Given the description of an element on the screen output the (x, y) to click on. 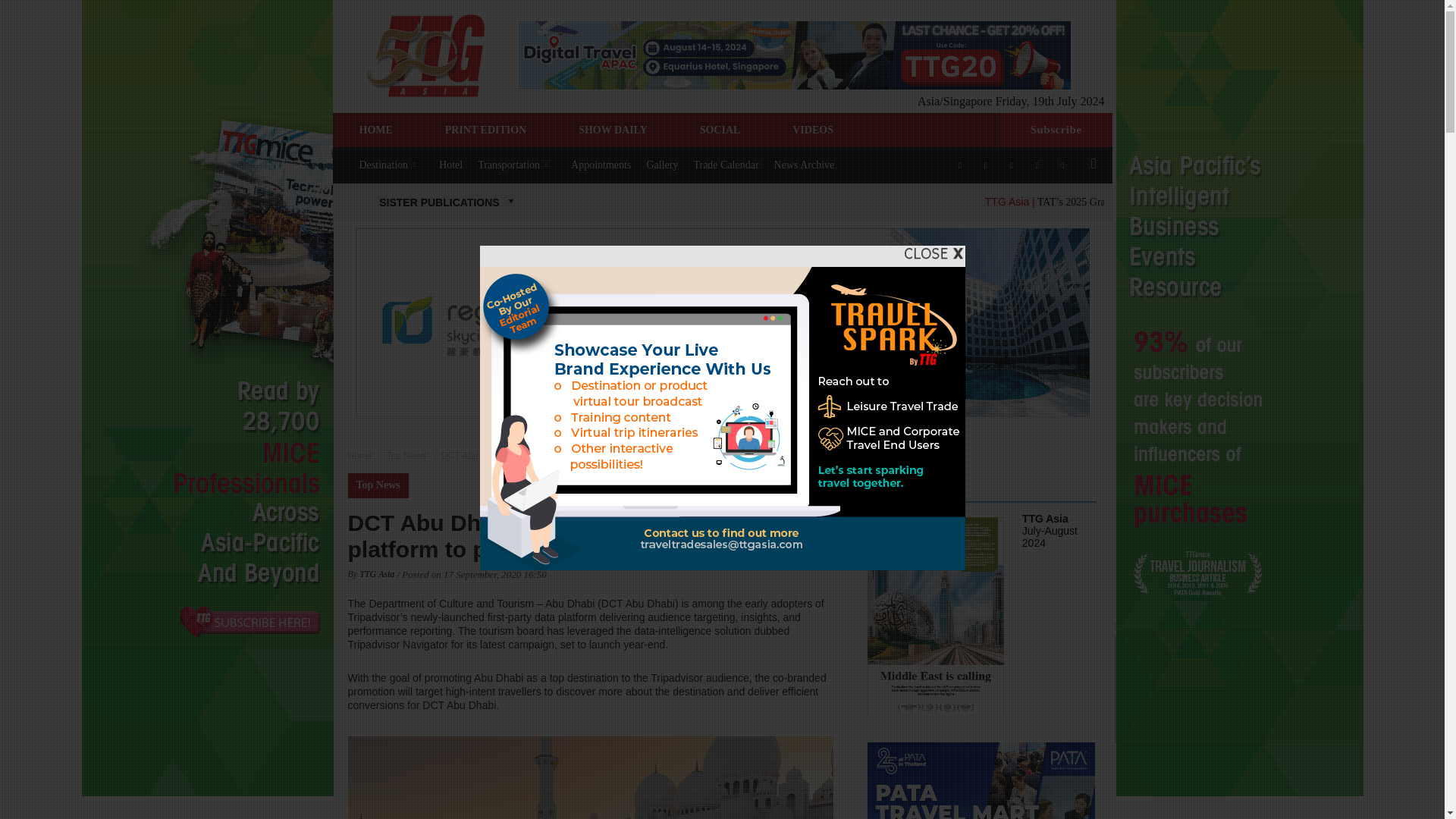
Twitter (1062, 164)
TTG Asia (424, 54)
Instagram (985, 164)
Mail (1011, 164)
Close Box (932, 253)
Facebook (960, 164)
RSS (1037, 164)
